Given the description of an element on the screen output the (x, y) to click on. 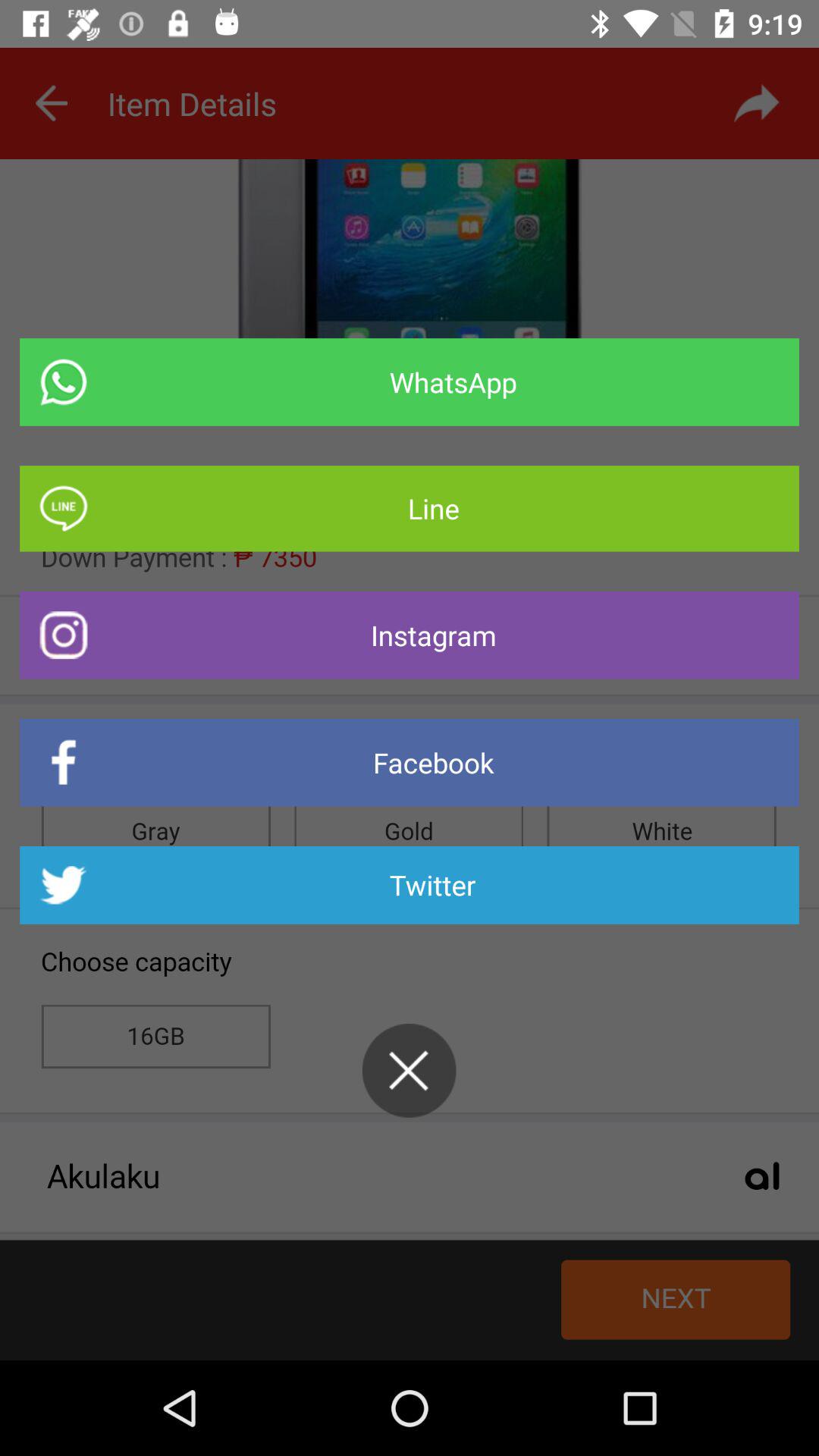
flip to the facebook (409, 762)
